Given the description of an element on the screen output the (x, y) to click on. 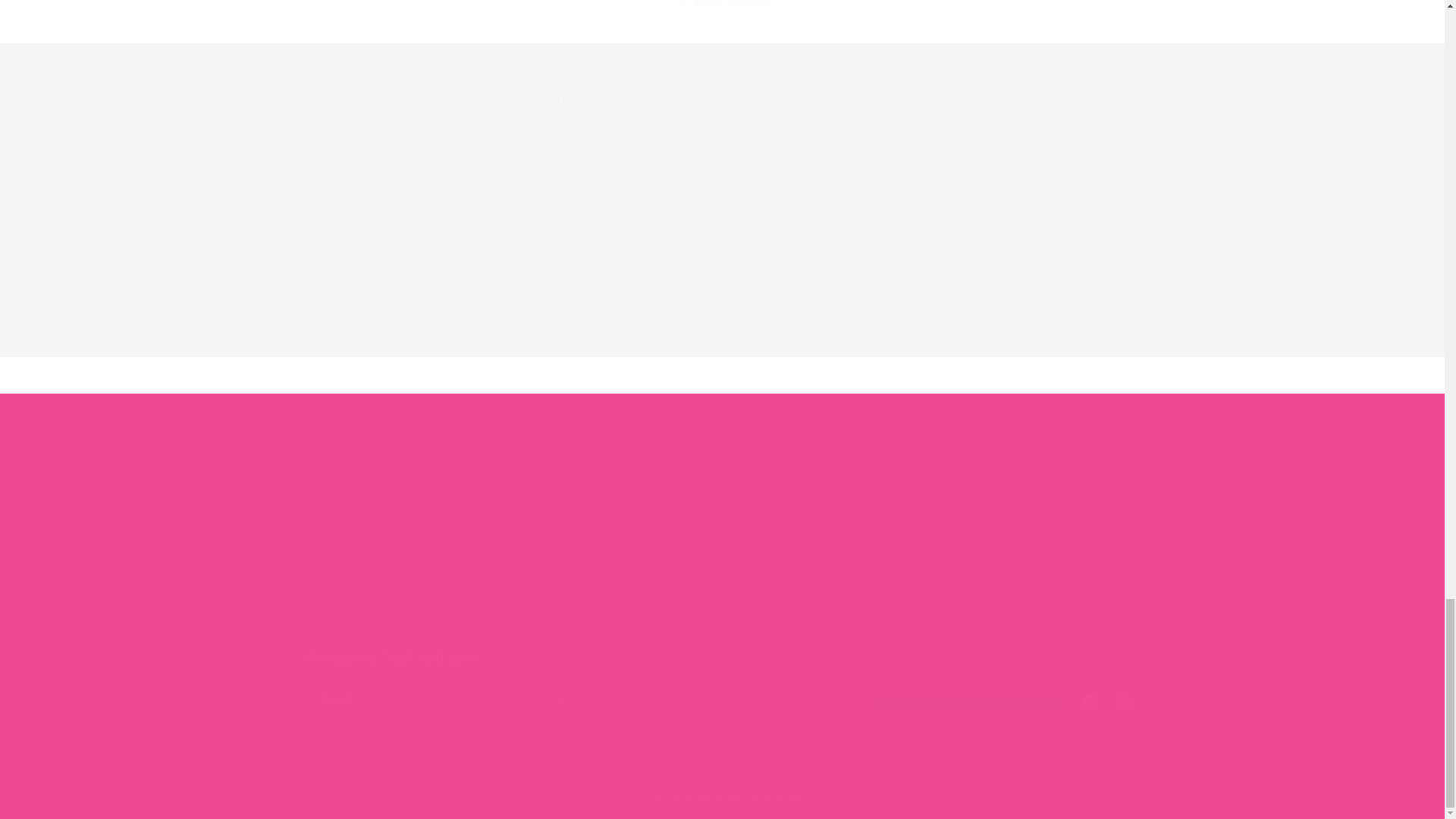
Post comment (506, 326)
